Given the description of an element on the screen output the (x, y) to click on. 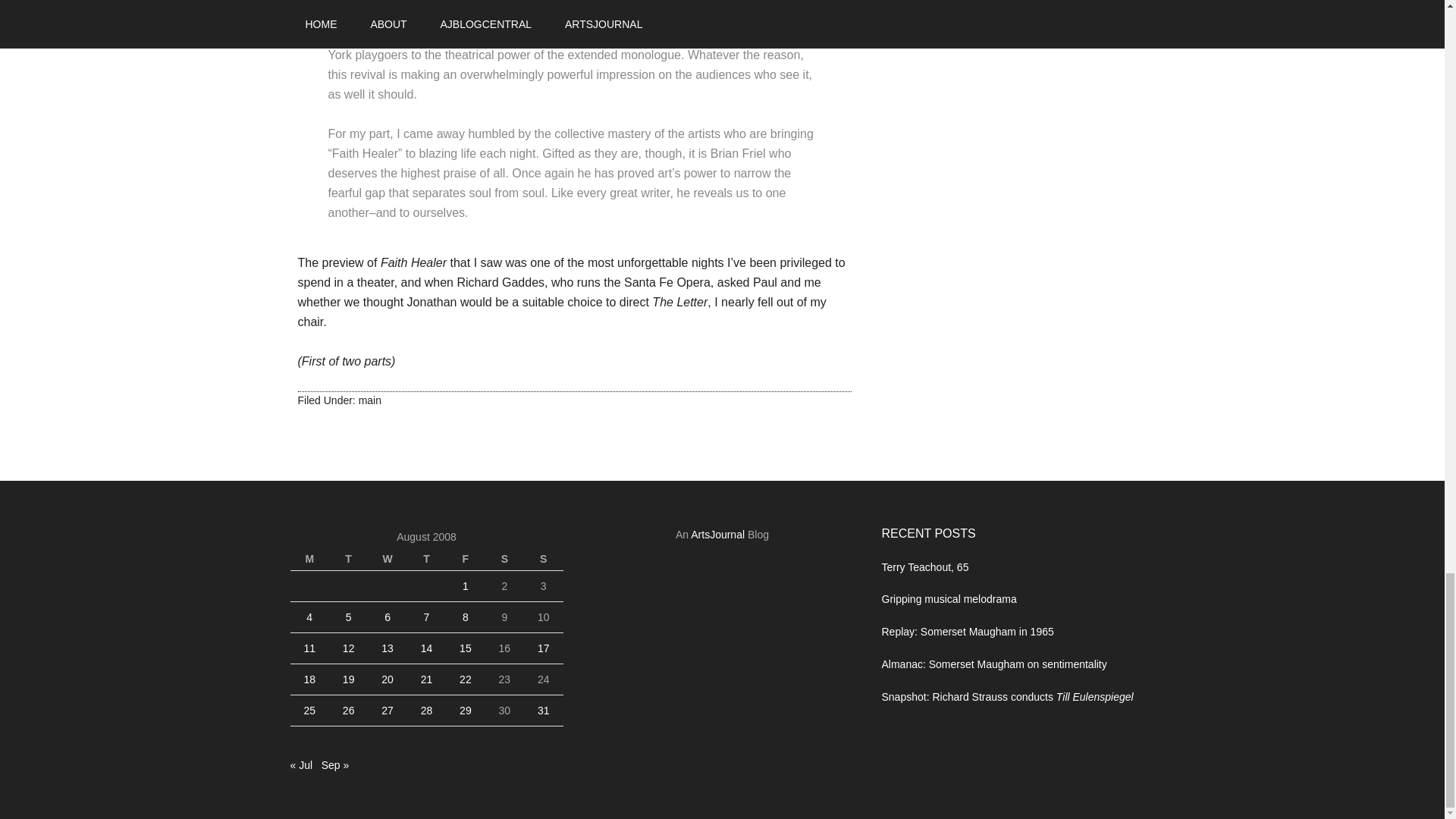
Monday (309, 558)
Tuesday (348, 558)
main (369, 399)
